Given the description of an element on the screen output the (x, y) to click on. 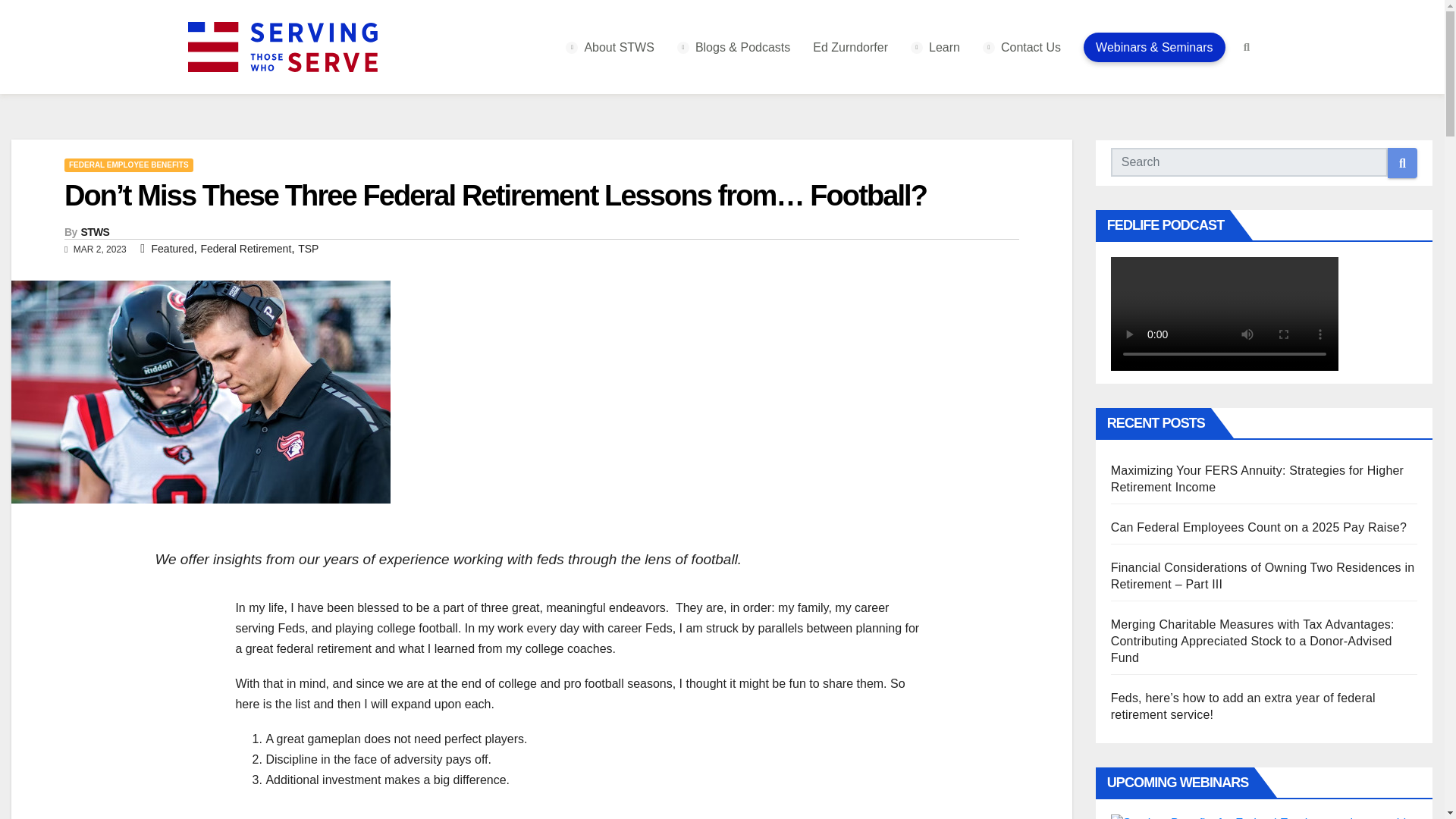
Learn (935, 47)
Ed Zurndorfer (850, 47)
Featured (172, 248)
STWS (94, 232)
TSP (308, 248)
FEDERAL EMPLOYEE BENEFITS (128, 164)
Federal Retirement (245, 248)
Contact Us (1021, 47)
About STWS (609, 47)
